Given the description of an element on the screen output the (x, y) to click on. 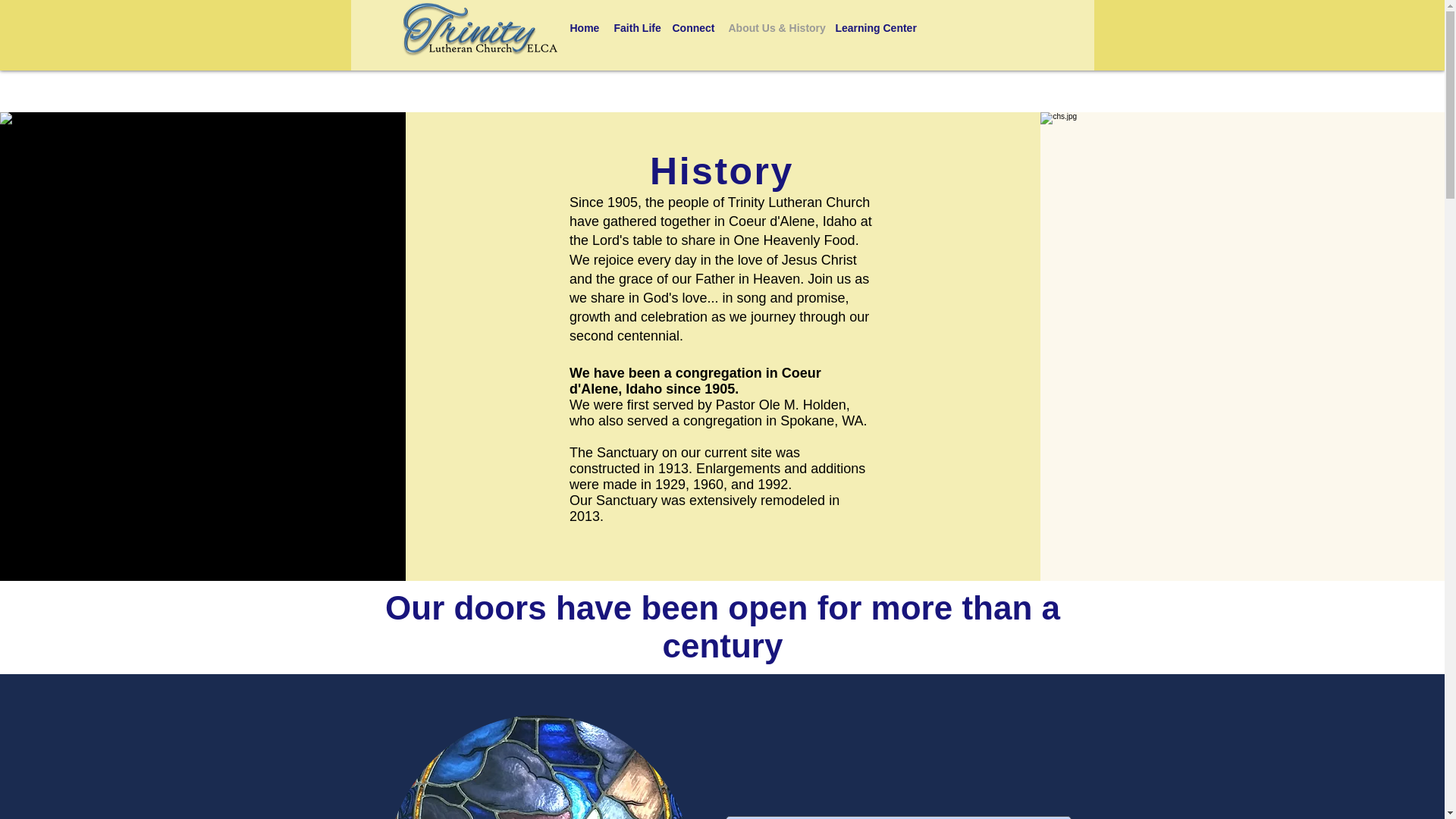
Faith Life (636, 27)
Learning Center (874, 27)
Connect (691, 27)
Home (584, 27)
